Given the description of an element on the screen output the (x, y) to click on. 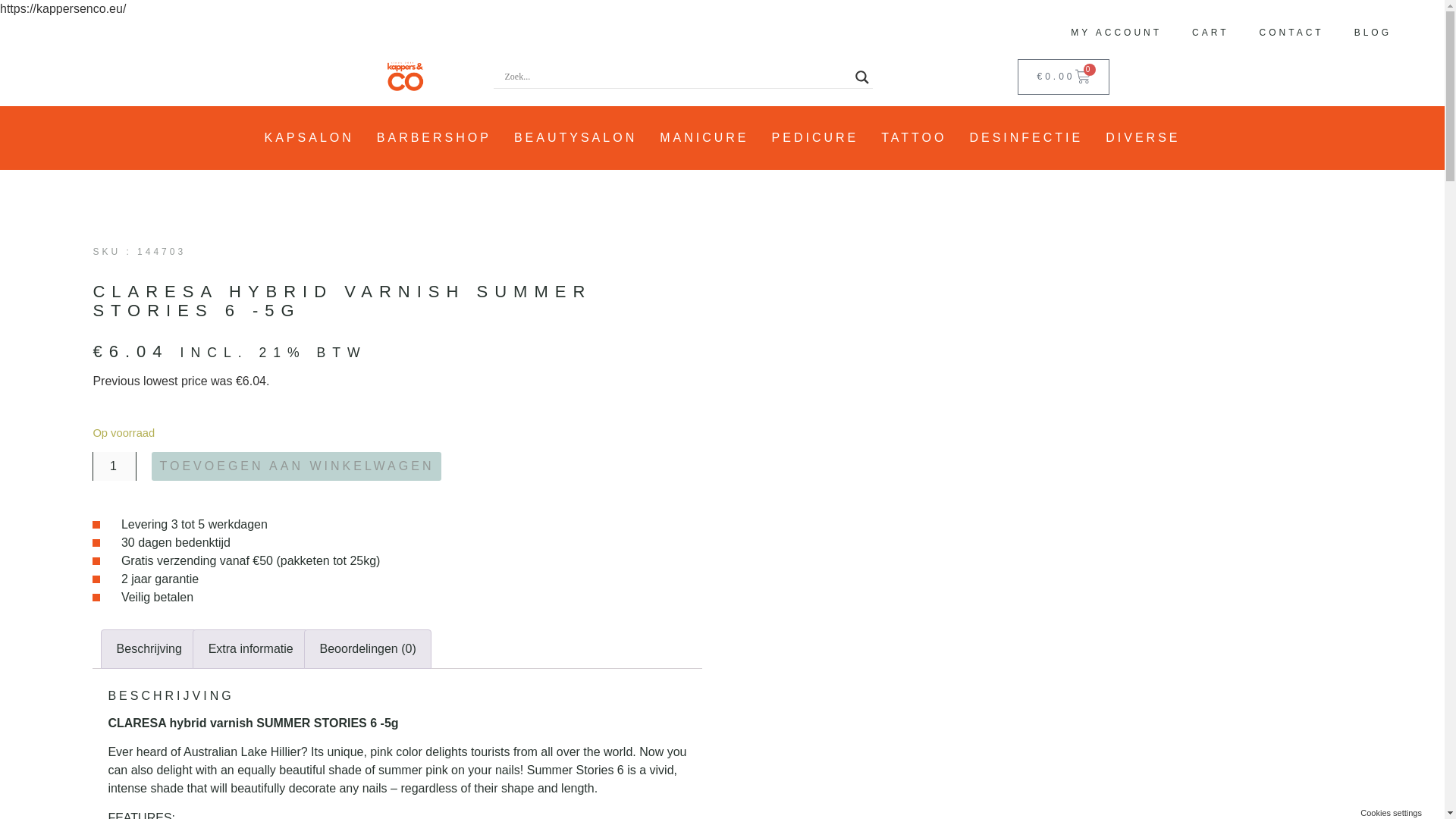
Transparant Oranje Kappers Co Kappers Co (406, 76)
CART (1209, 32)
MY ACCOUNT (1115, 32)
1 (114, 466)
CONTACT (1291, 32)
KAPSALON (308, 137)
BLOG (1372, 32)
